Given the description of an element on the screen output the (x, y) to click on. 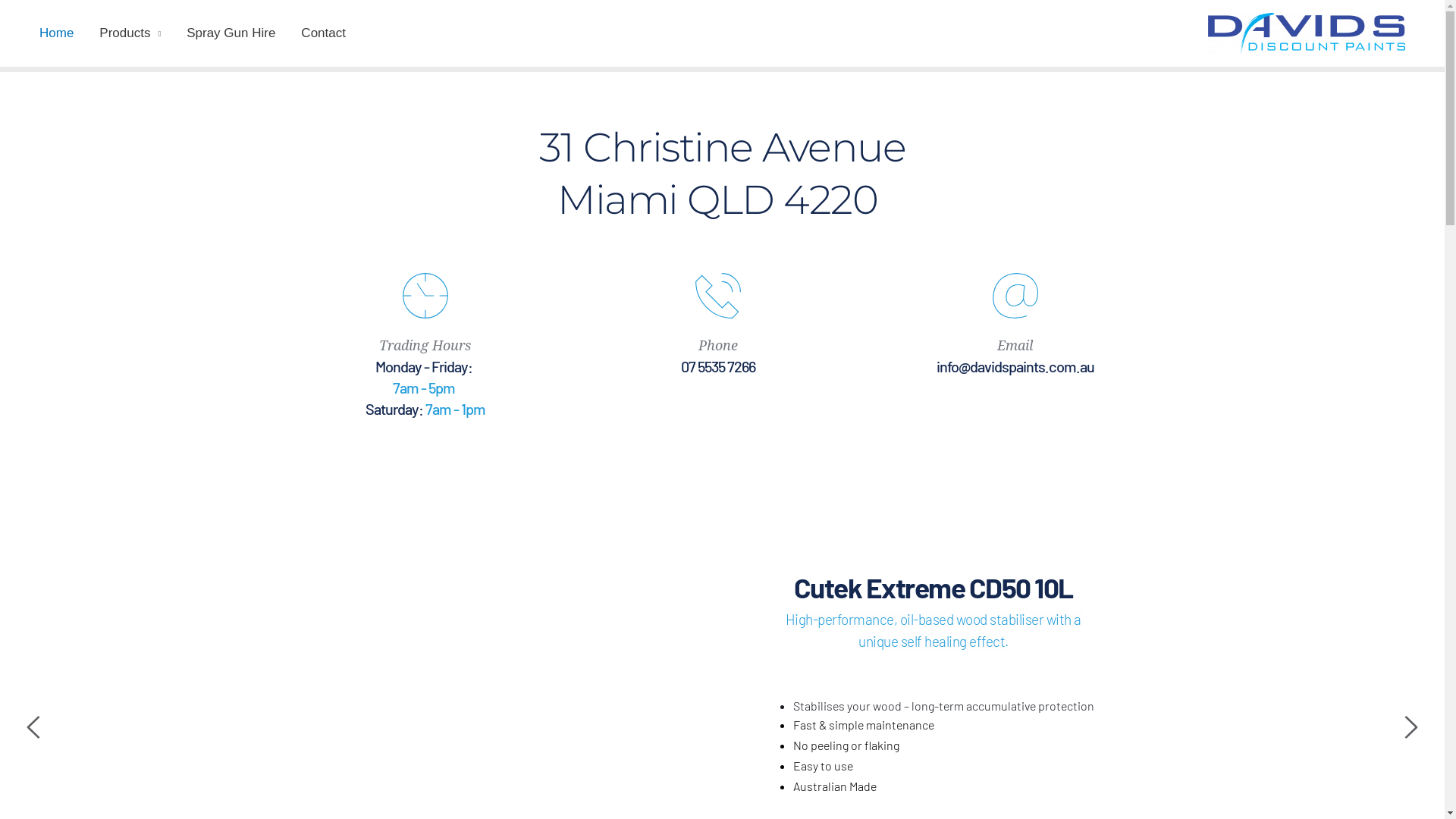
Spray Gun Hire Element type: text (230, 33)
Home Element type: text (56, 33)
Products Element type: text (129, 33)
Contact Element type: text (323, 33)
